Given the description of an element on the screen output the (x, y) to click on. 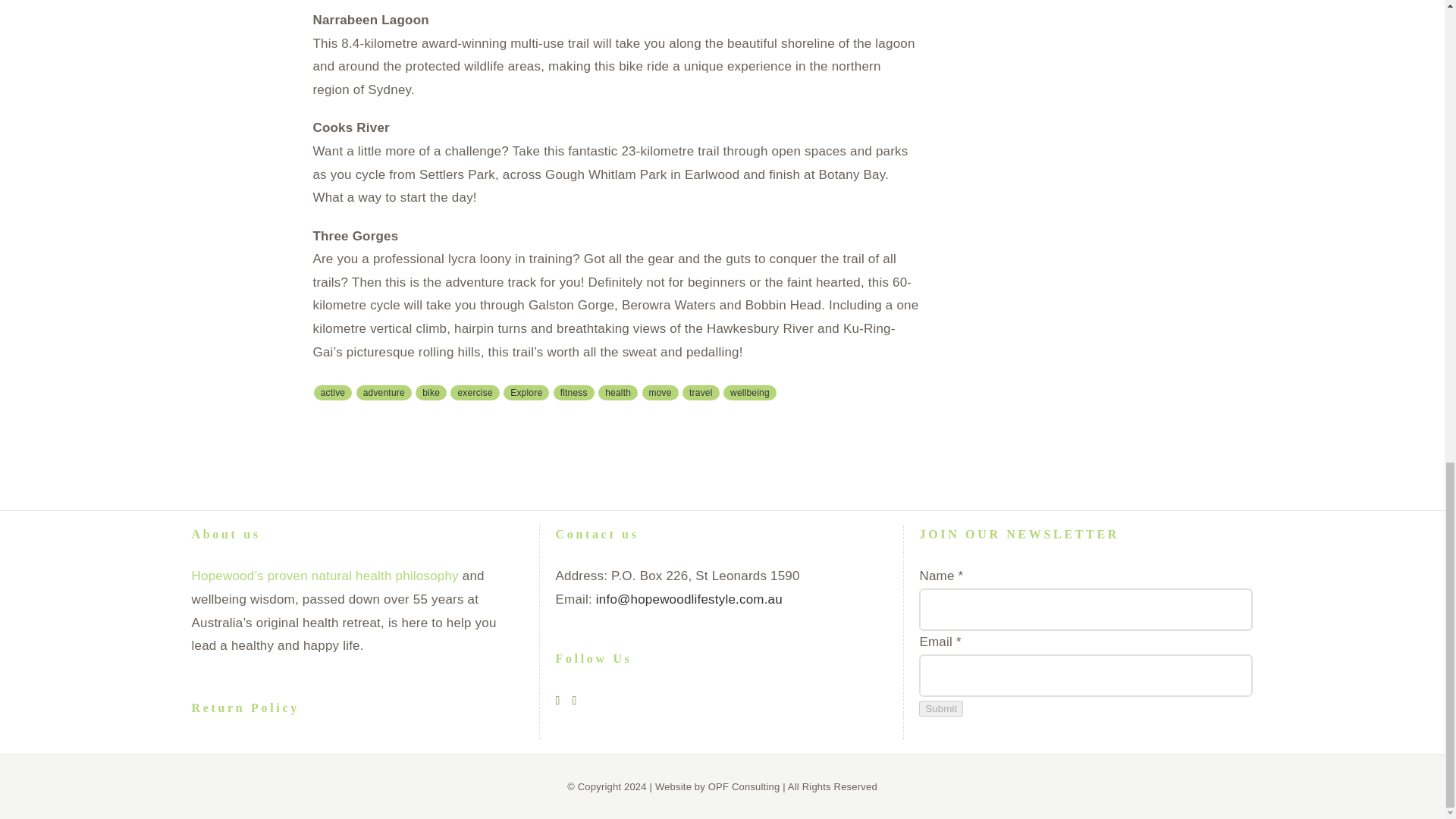
move (660, 392)
health (617, 392)
bike (430, 392)
active (333, 392)
exercise (474, 392)
Explore (525, 392)
adventure (384, 392)
wellbeing (749, 392)
travel (700, 392)
fitness (573, 392)
